Given the description of an element on the screen output the (x, y) to click on. 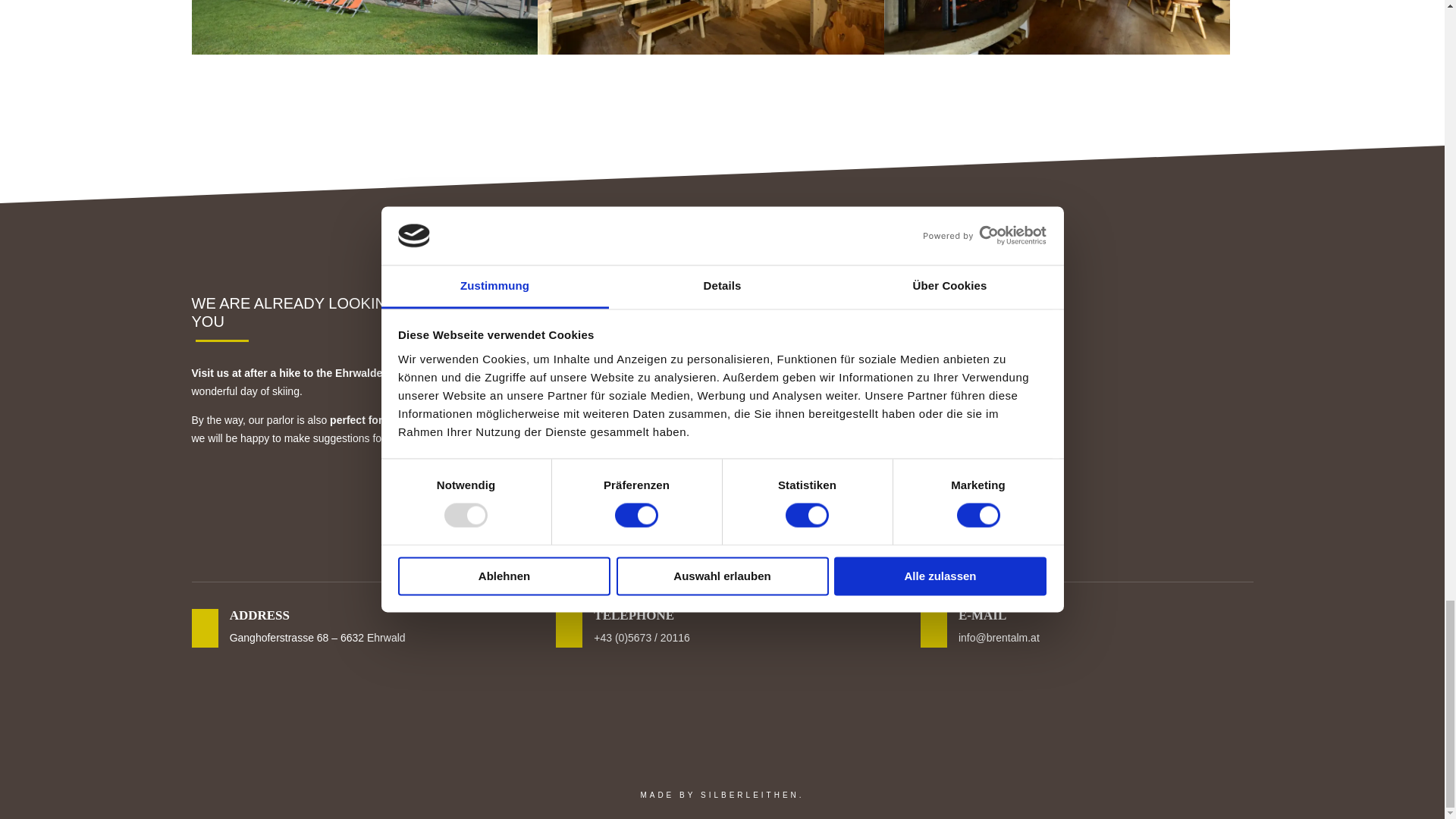
Brent alp 6 (1086, 435)
